Given the description of an element on the screen output the (x, y) to click on. 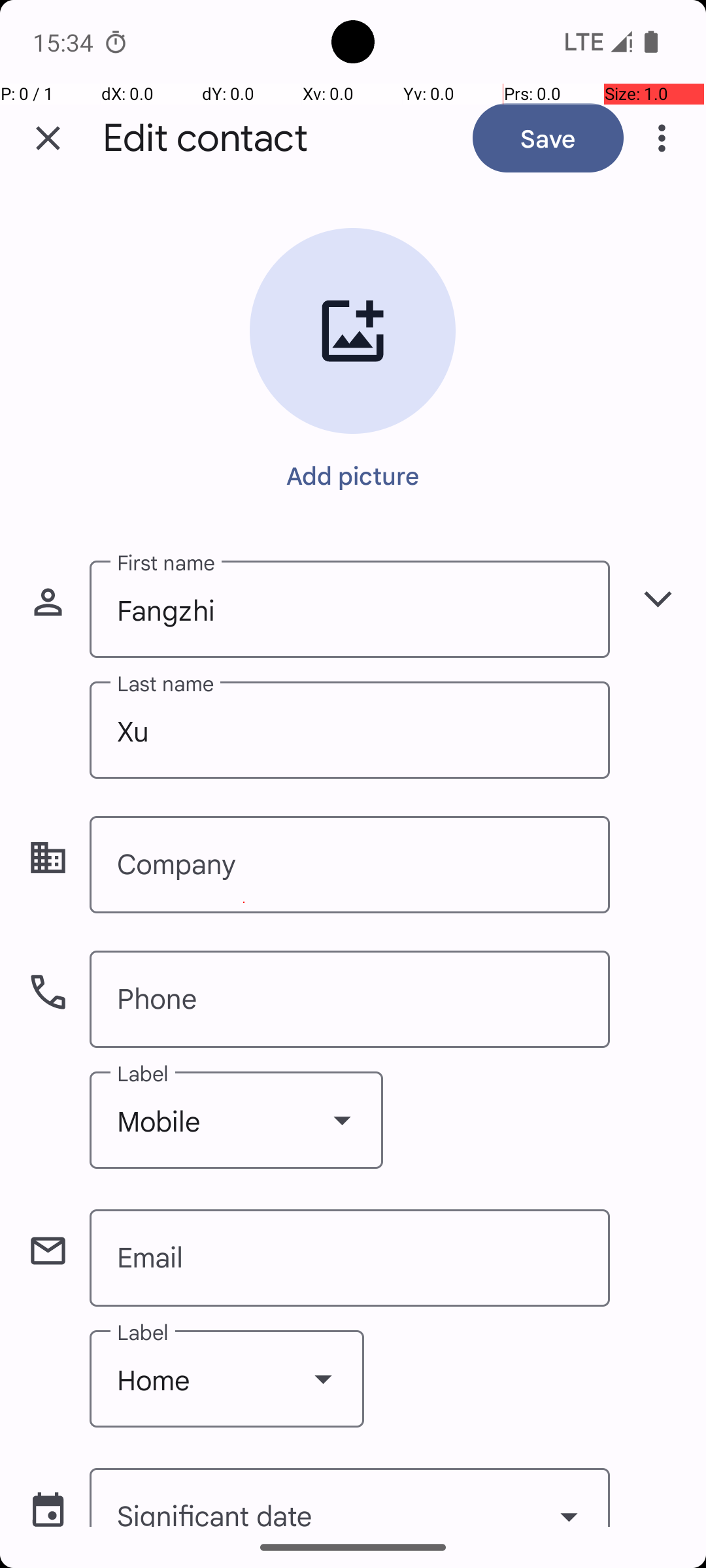
Edit contact Element type: android.widget.TextView (205, 138)
Add contact photo Element type: android.widget.FrameLayout (352, 330)
Add picture Element type: android.widget.Button (352, 474)
Fangzhi Element type: android.widget.EditText (349, 608)
Xu Element type: android.widget.EditText (349, 729)
Email Element type: android.widget.EditText (349, 1257)
Significant date Element type: android.widget.EditText (349, 1497)
Show date picker Element type: android.widget.ImageButton (568, 1500)
